Given the description of an element on the screen output the (x, y) to click on. 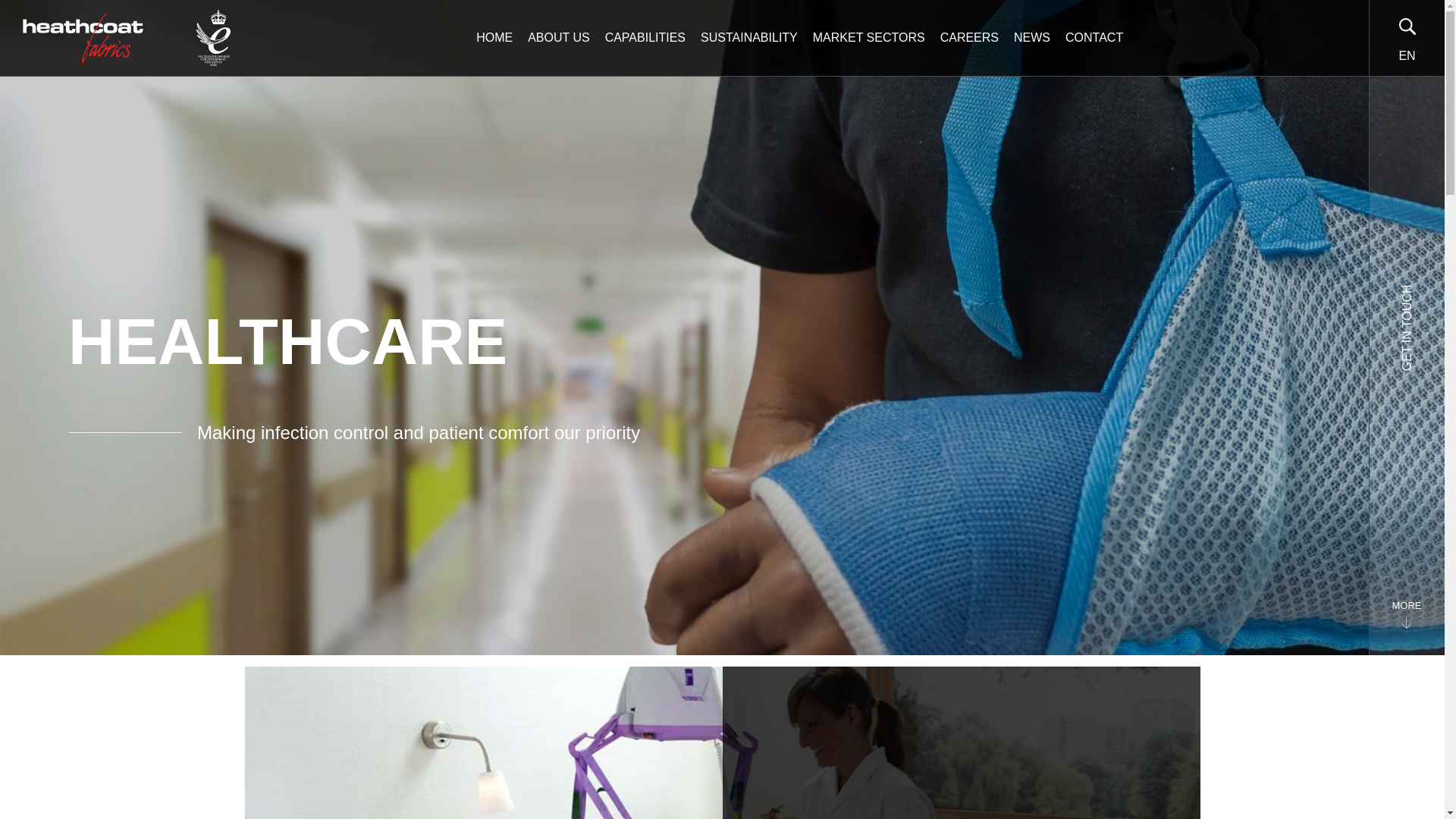
MARKET SECTORS (869, 37)
CONTACT (1094, 37)
CAREERS (969, 37)
ABOUT US (557, 37)
CAPABILITIES (644, 37)
SUSTAINABILITY (749, 37)
